Given the description of an element on the screen output the (x, y) to click on. 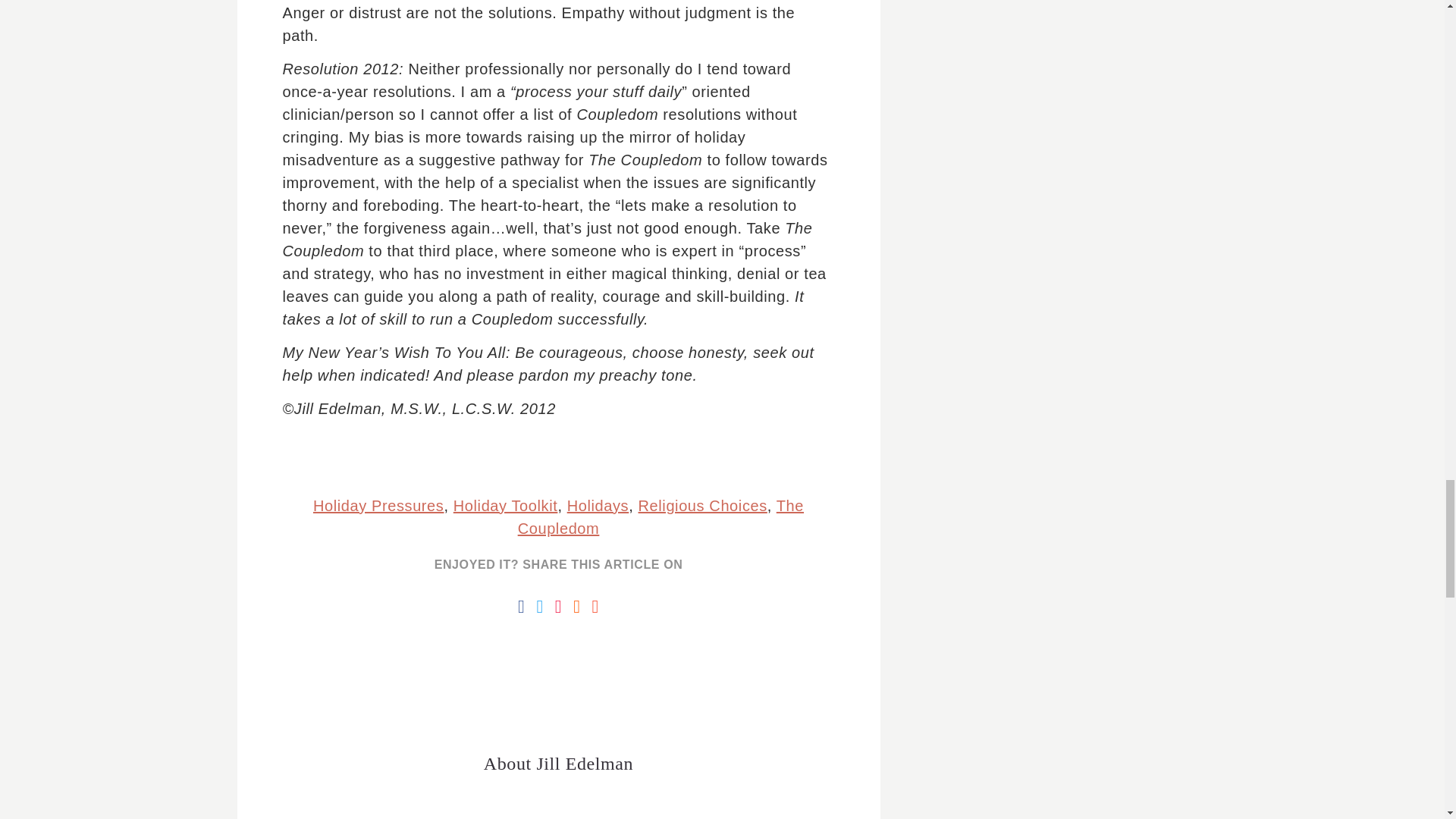
The Coupledom (660, 517)
Religious Choices (703, 505)
Holiday Pressures (378, 505)
Holiday Toolkit (504, 505)
Holidays (597, 505)
